Given the description of an element on the screen output the (x, y) to click on. 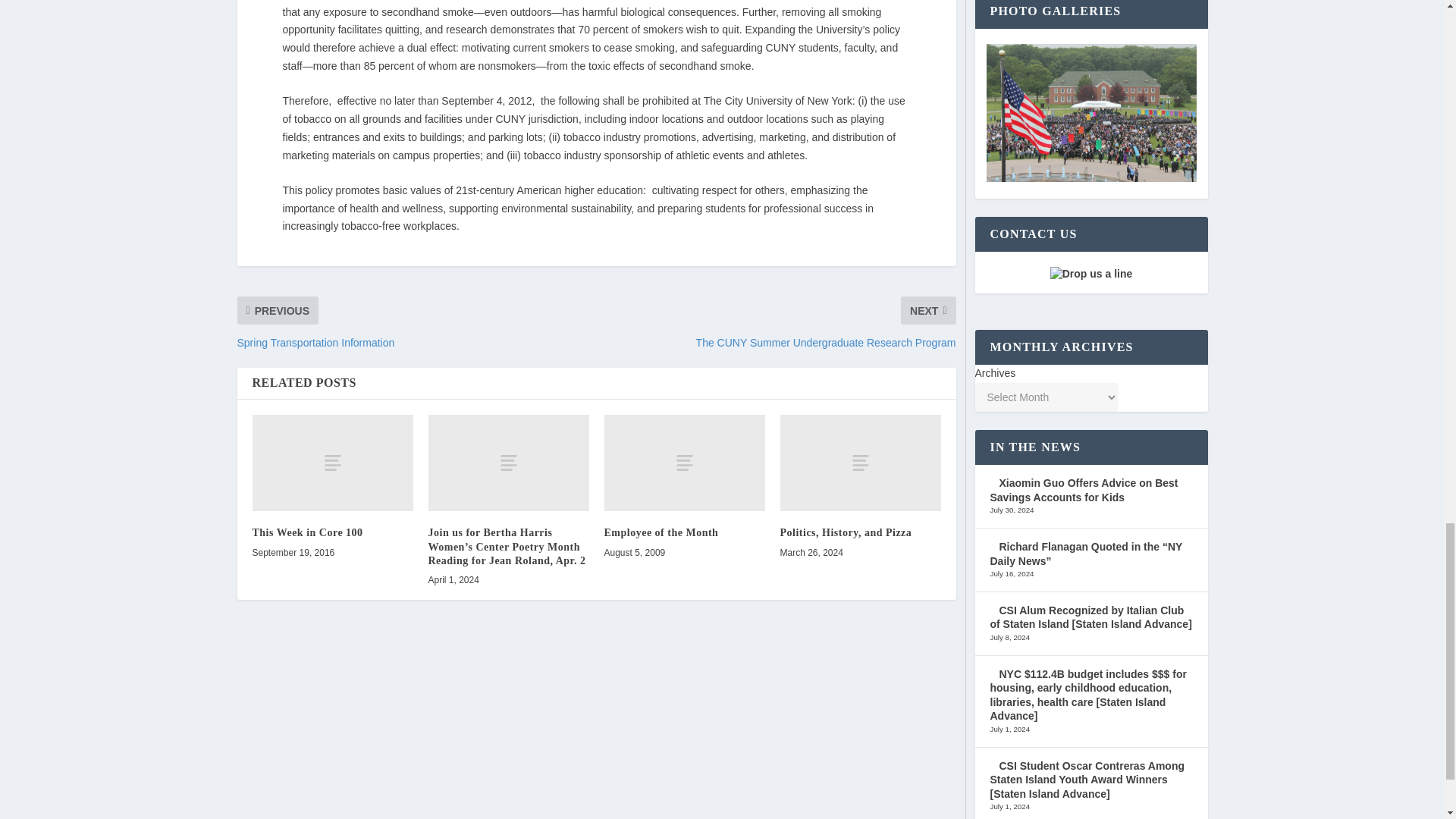
Politics, History, and Pizza (844, 532)
This Week in Core 100 (331, 462)
This Week in Core 100 (306, 532)
Employee of the Month (660, 532)
Employee of the Month (684, 462)
Politics, History, and Pizza (859, 462)
